Given the description of an element on the screen output the (x, y) to click on. 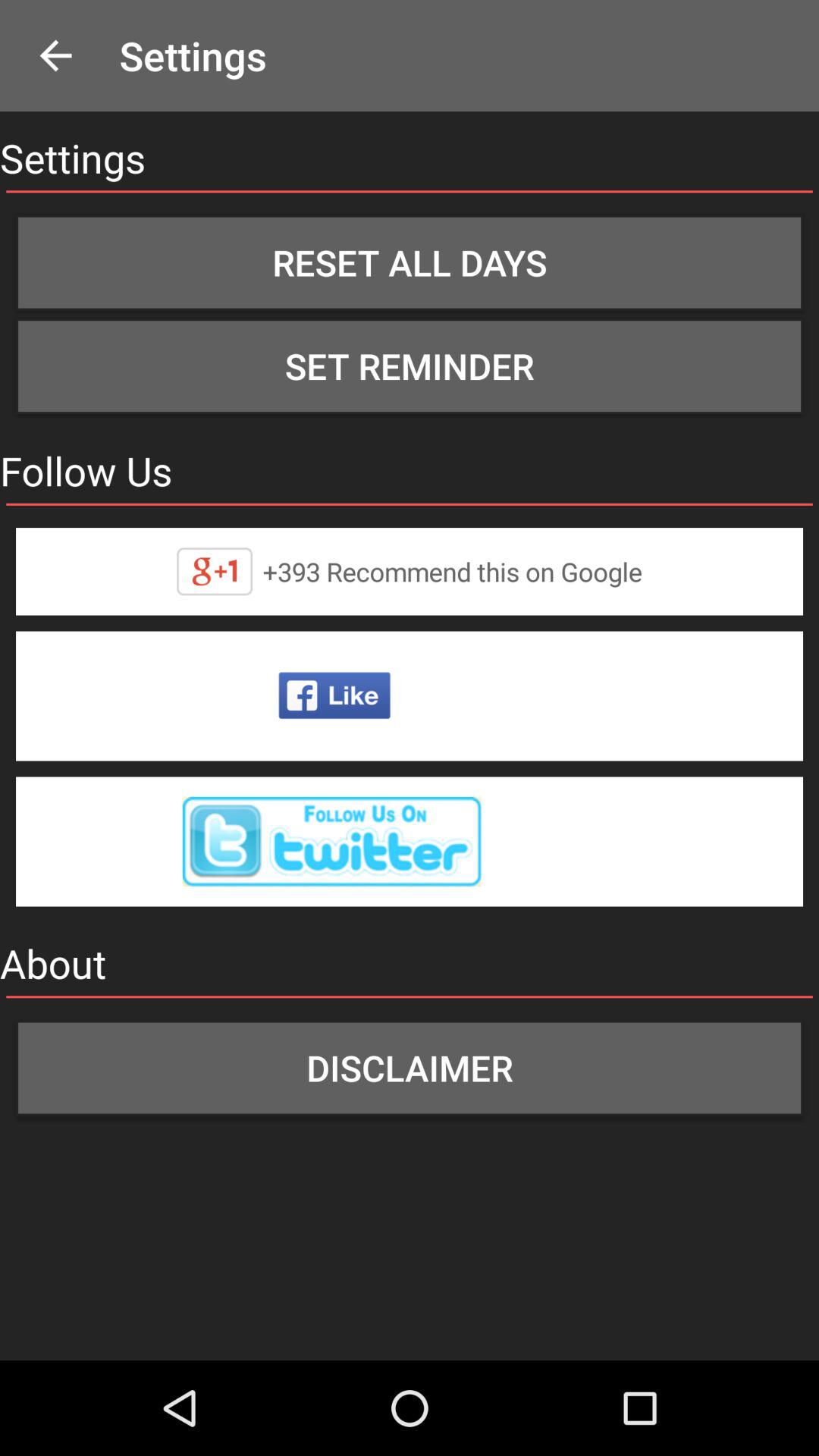
swipe until the disclaimer item (409, 1067)
